Given the description of an element on the screen output the (x, y) to click on. 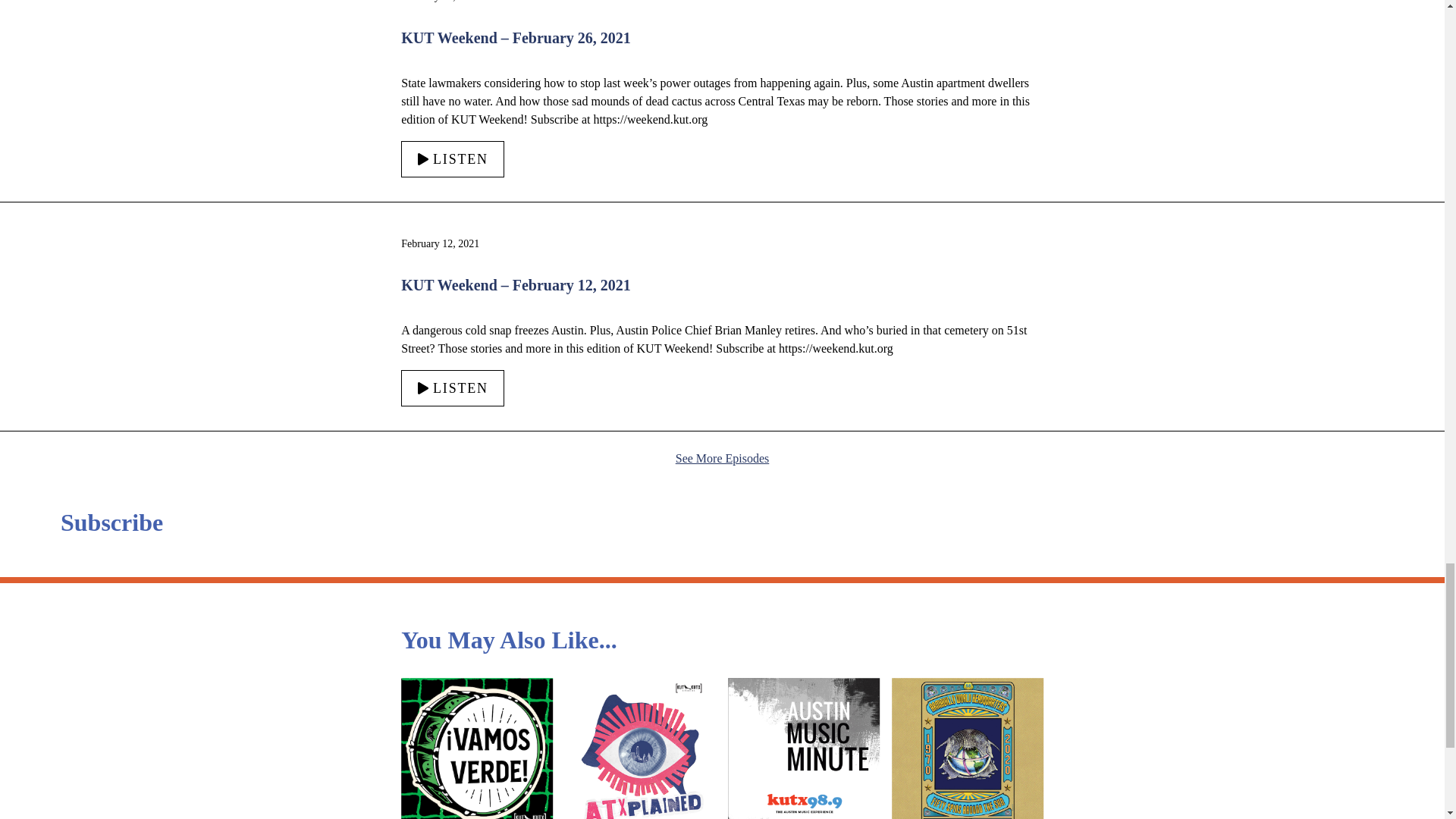
LISTEN (452, 388)
LISTEN (452, 158)
